Given the description of an element on the screen output the (x, y) to click on. 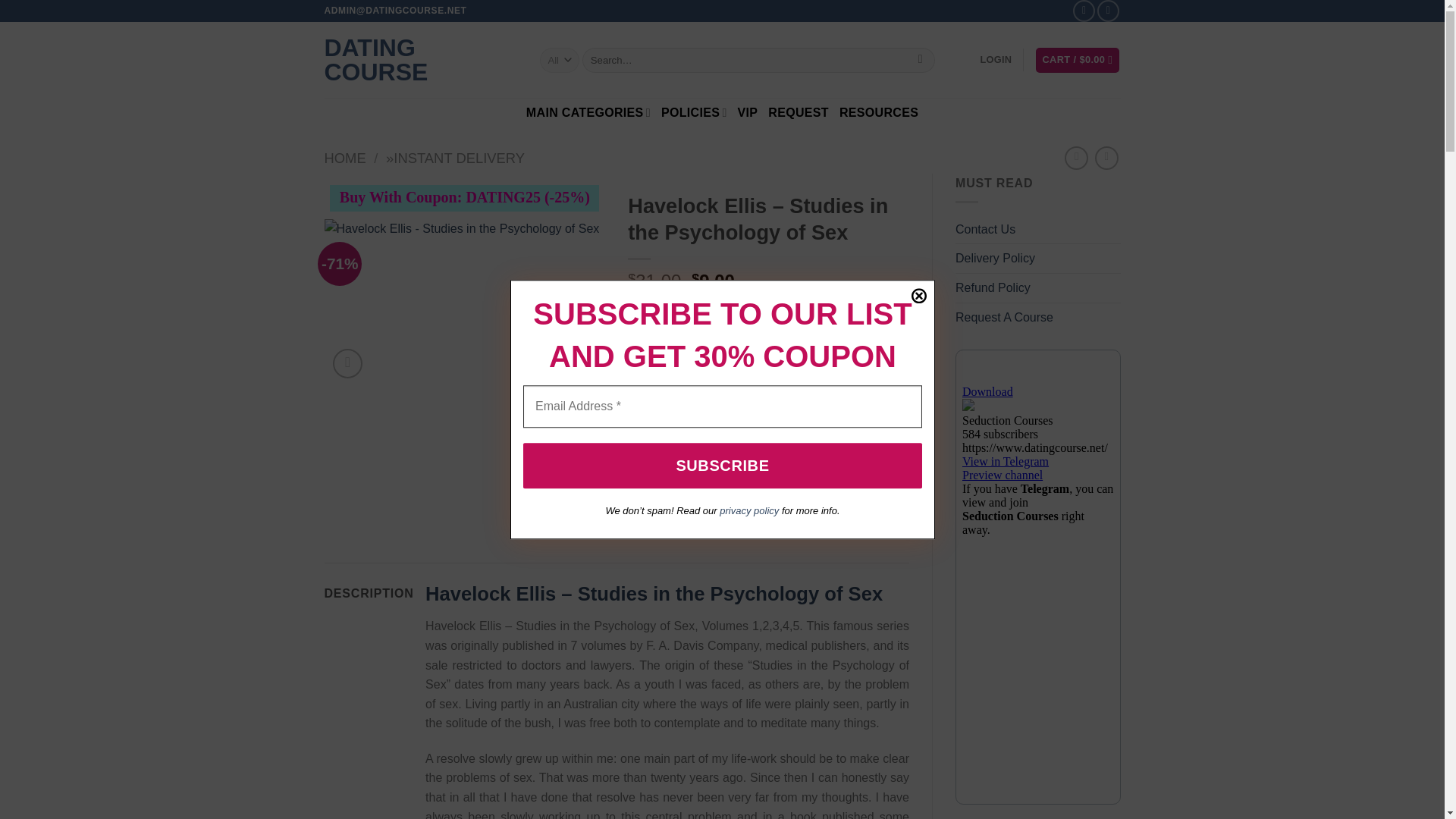
Delivery Policy (995, 258)
Contact Us (984, 229)
Search (920, 60)
Qty (660, 349)
POLICIES (693, 112)
LOGIN (995, 59)
1 (660, 349)
REQUEST (798, 112)
Havelock Ellis - Studies in the Psychology of Sex (464, 300)
DATING COURSE (420, 60)
Cart (1077, 59)
Request A Course (1003, 317)
MAIN CATEGORIES (587, 112)
Email Address (721, 405)
RESOURCES (879, 112)
